Given the description of an element on the screen output the (x, y) to click on. 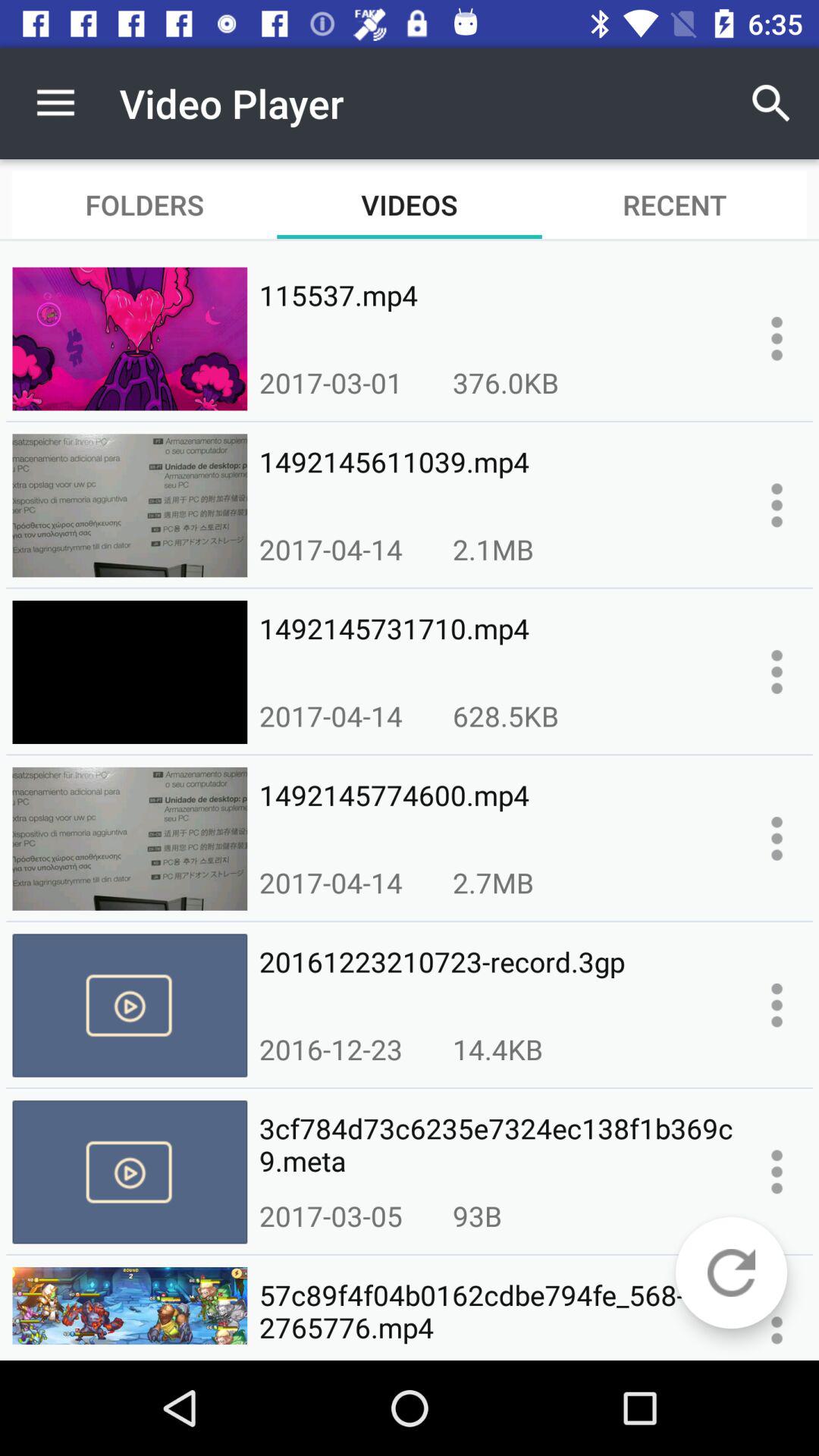
more options for selected video (776, 1171)
